Given the description of an element on the screen output the (x, y) to click on. 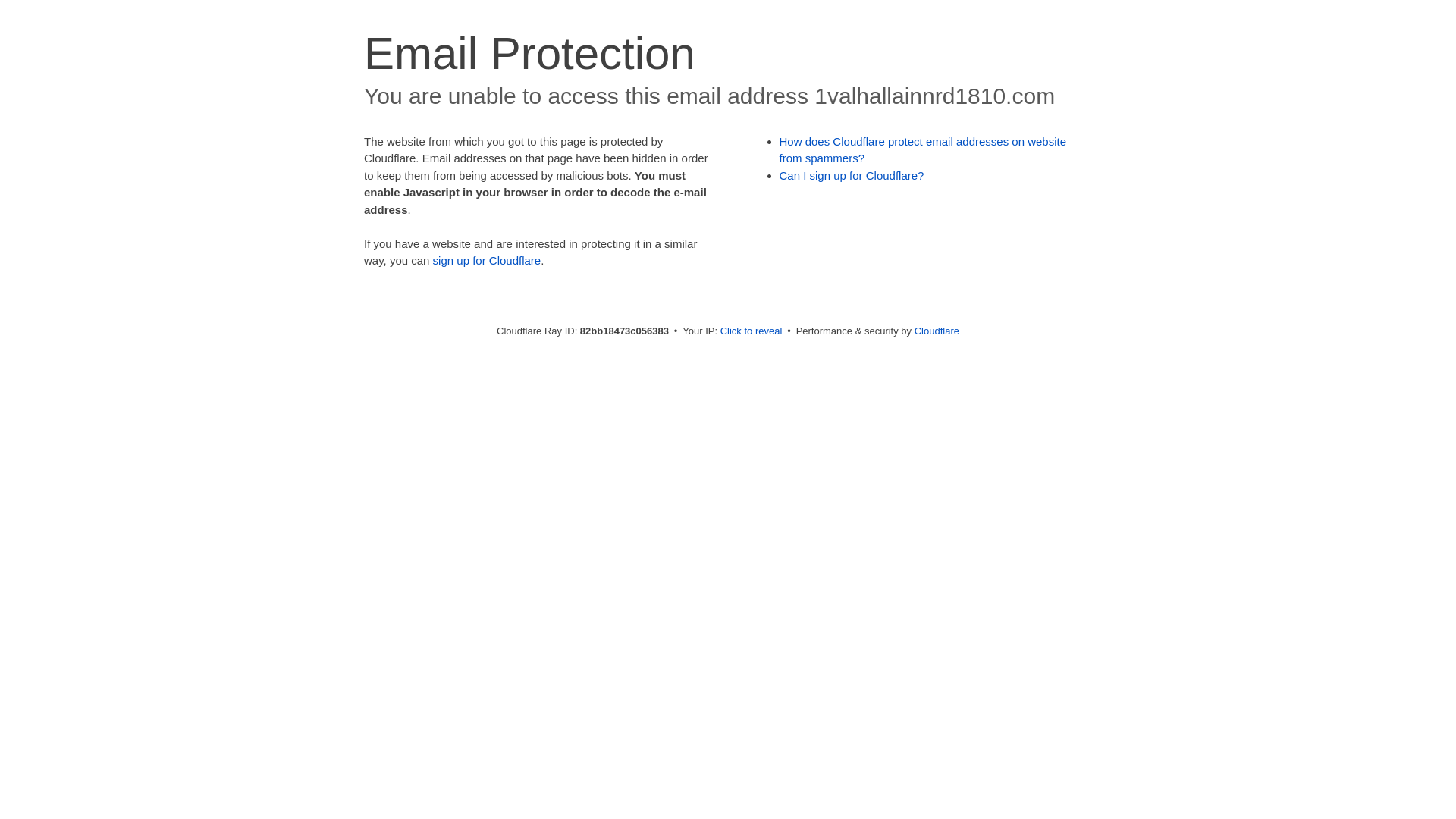
Click to reveal Element type: text (751, 330)
Can I sign up for Cloudflare? Element type: text (851, 175)
sign up for Cloudflare Element type: text (487, 260)
Cloudflare Element type: text (936, 330)
